Given the description of an element on the screen output the (x, y) to click on. 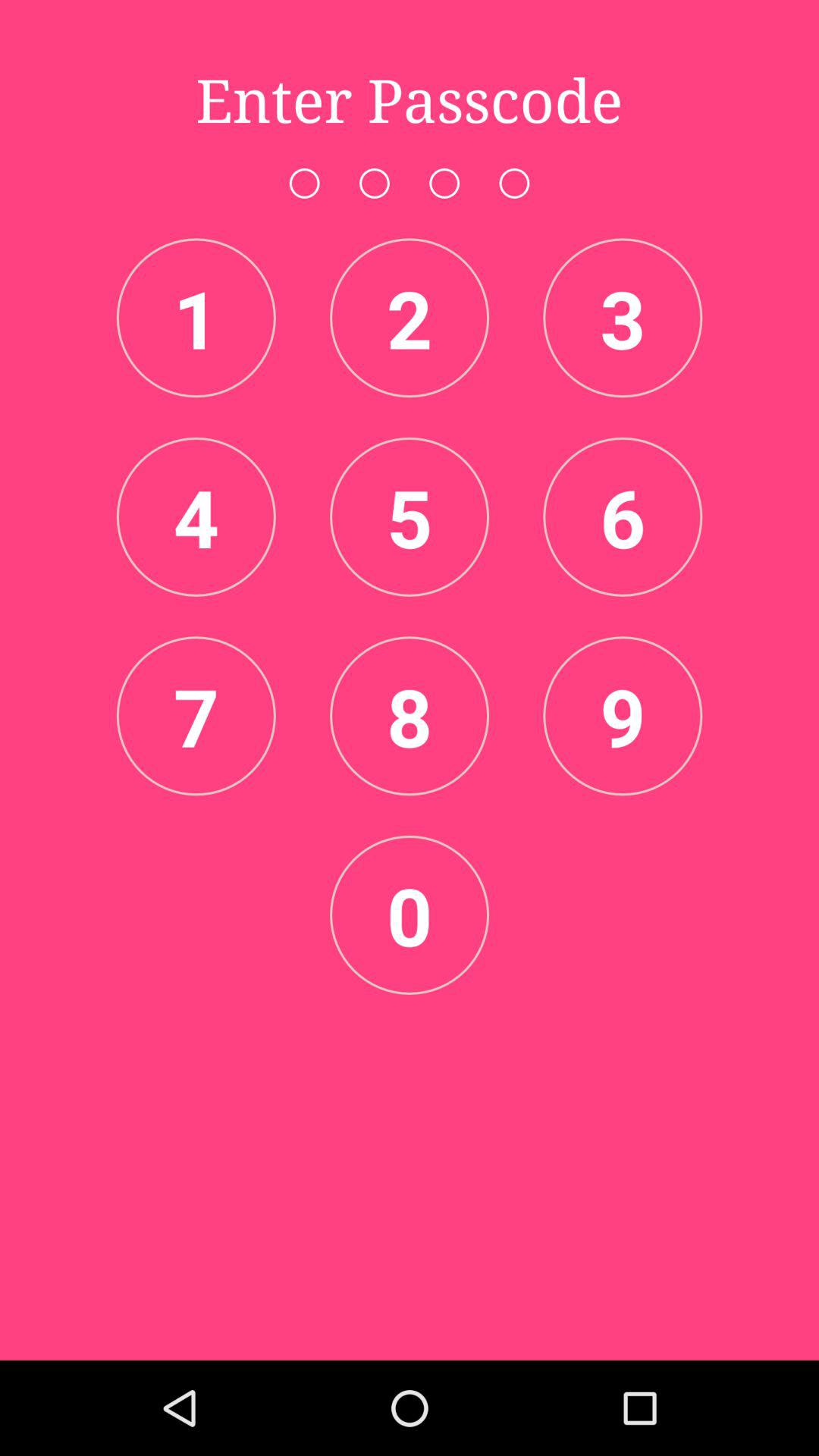
launch the item to the left of the 9 (409, 715)
